Given the description of an element on the screen output the (x, y) to click on. 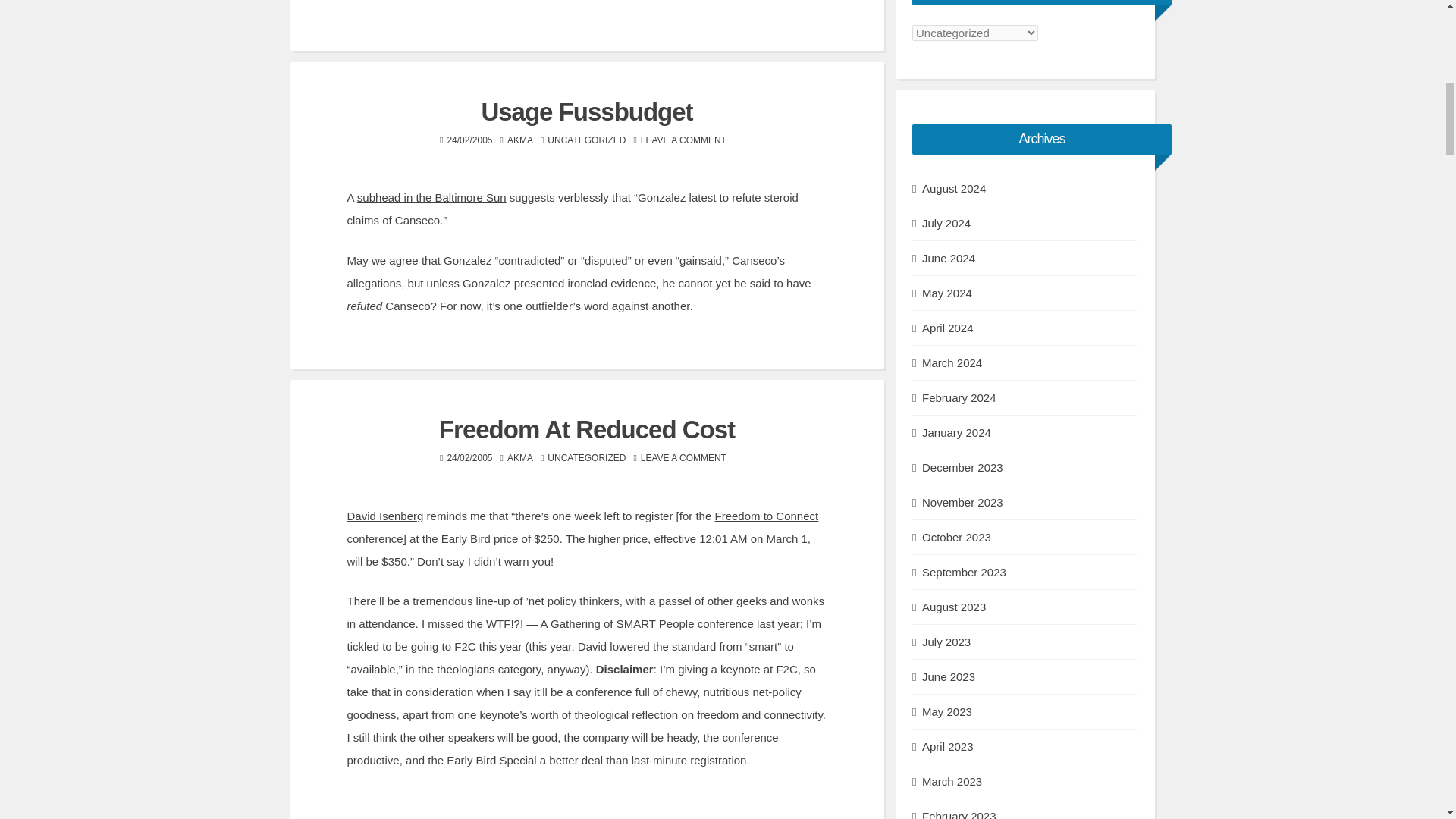
UNCATEGORIZED (586, 140)
Freedom to Connect (766, 515)
David Isenberg (385, 515)
AKMA (519, 457)
UNCATEGORIZED (586, 457)
LEAVE A COMMENT (683, 140)
AKMA (519, 140)
subhead in the Baltimore Sun (431, 196)
LEAVE A COMMENT (683, 457)
Usage Fussbudget (586, 111)
